Given the description of an element on the screen output the (x, y) to click on. 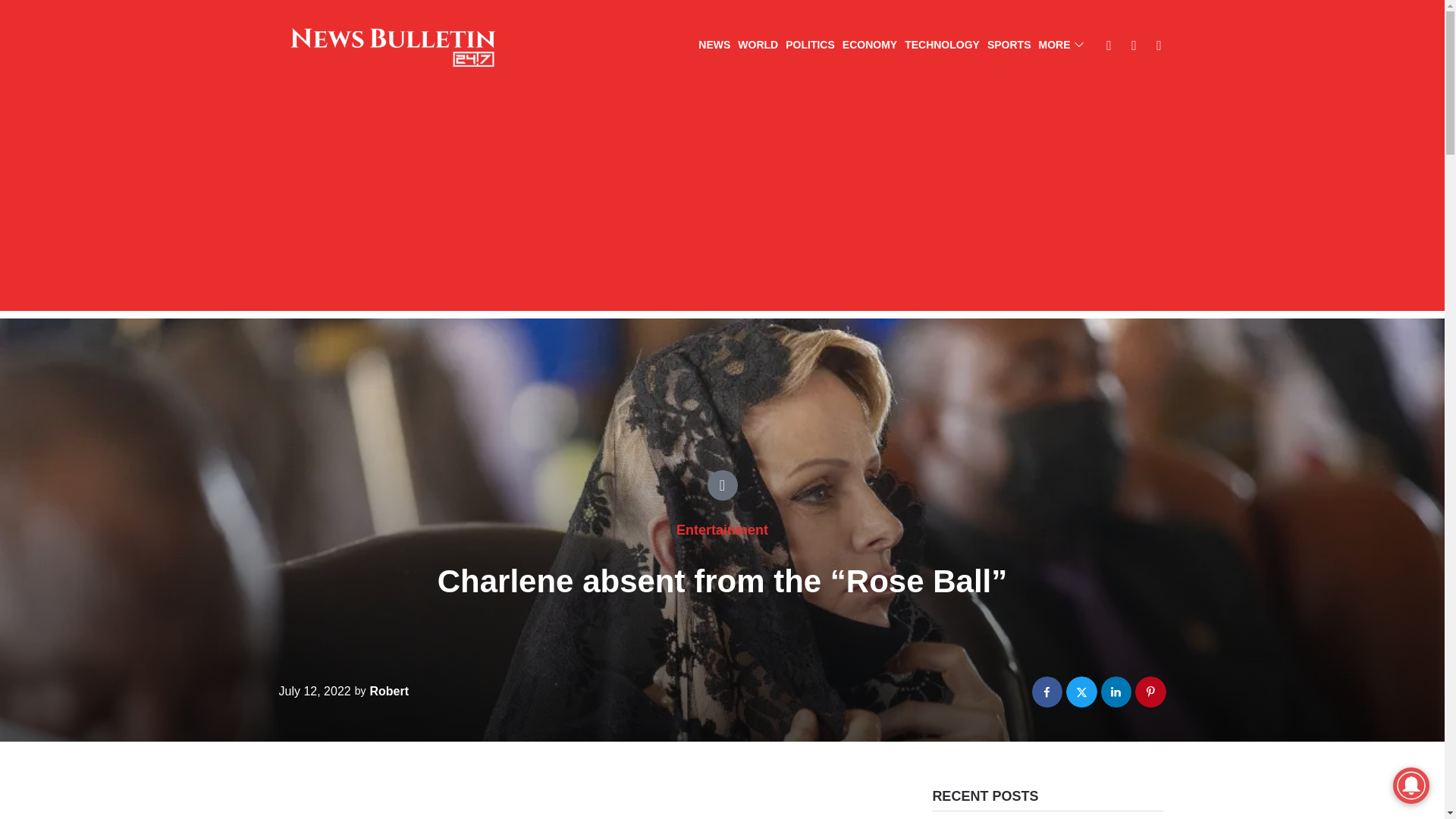
Entertainment (722, 529)
WORLD (757, 45)
MORE (1061, 45)
TECHNOLOGY (941, 45)
ECONOMY (869, 45)
POLITICS (810, 45)
Advertisement (582, 806)
SPORTS (1008, 45)
NEWS (714, 45)
